Given the description of an element on the screen output the (x, y) to click on. 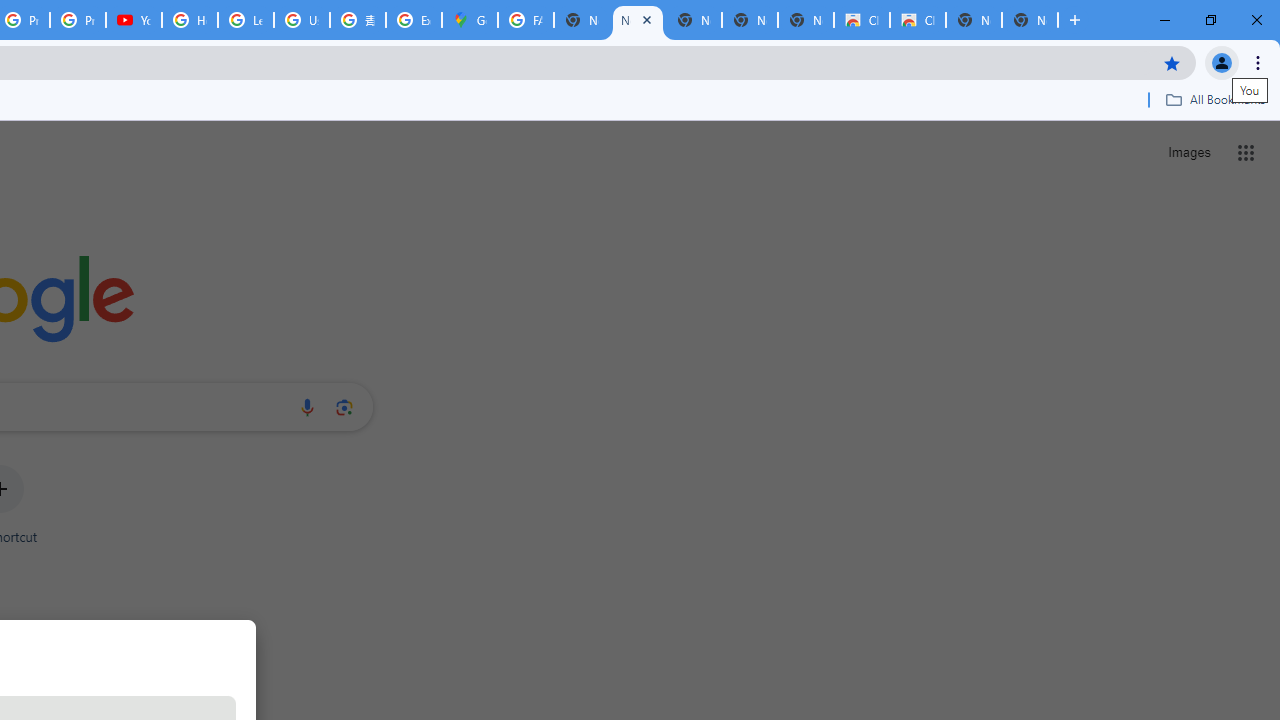
Classic Blue - Chrome Web Store (917, 20)
Classic Blue - Chrome Web Store (861, 20)
New Tab (1030, 20)
Explore new street-level details - Google Maps Help (413, 20)
Google Maps (469, 20)
All Bookmarks (1215, 99)
